Given the description of an element on the screen output the (x, y) to click on. 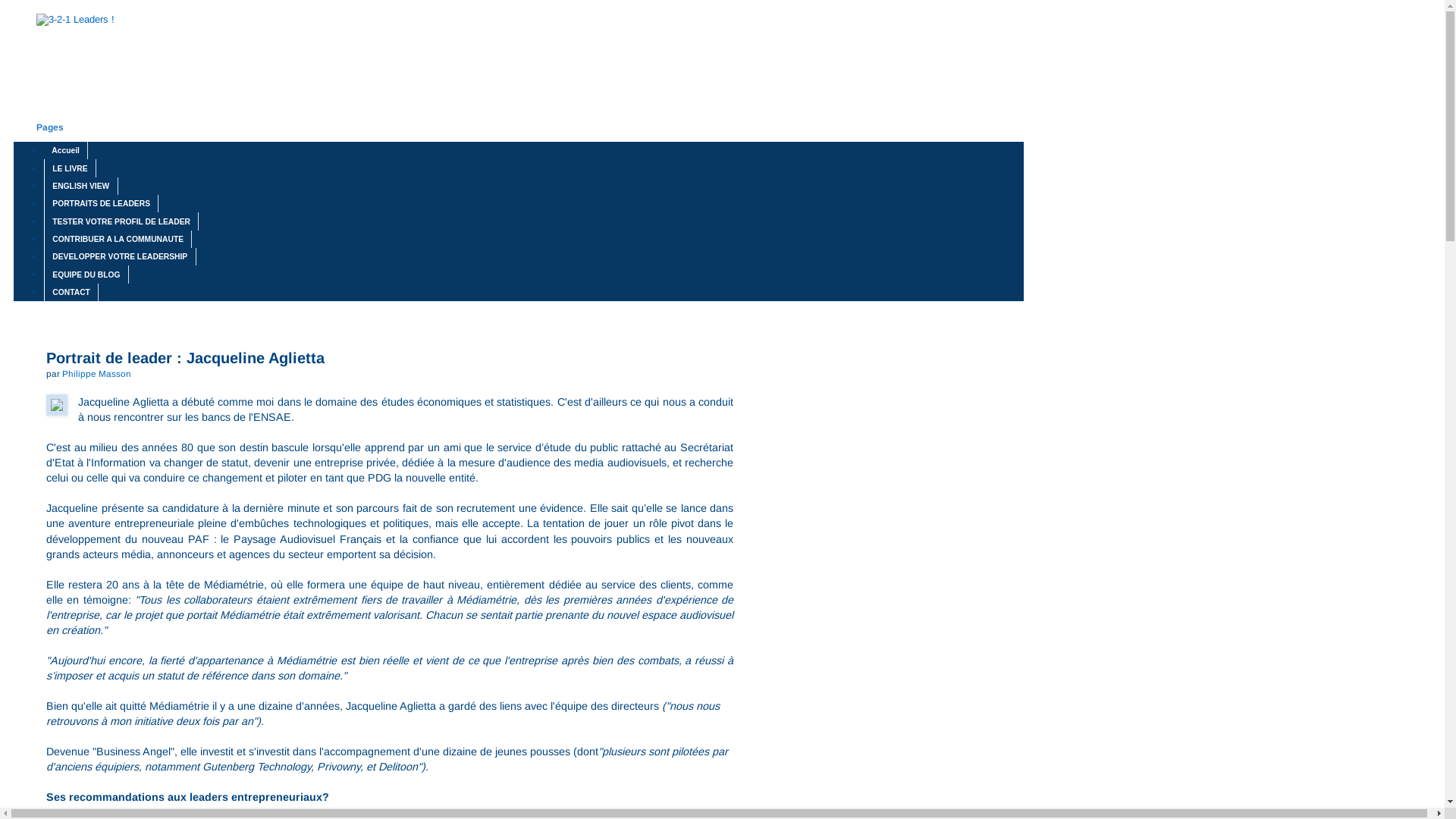
Accueil Element type: text (65, 150)
EQUIPE DU BLOG Element type: text (85, 273)
ENGLISH VIEW Element type: text (80, 185)
PORTRAITS DE LEADERS Element type: text (100, 203)
Philippe Masson Element type: text (96, 373)
CONTACT Element type: text (70, 292)
DEVELOPPER VOTRE LEADERSHIP Element type: text (119, 256)
LE LIVRE Element type: text (69, 167)
TESTER VOTRE PROFIL DE LEADER Element type: text (120, 220)
CONTRIBUER A LA COMMUNAUTE Element type: text (117, 238)
